Given the description of an element on the screen output the (x, y) to click on. 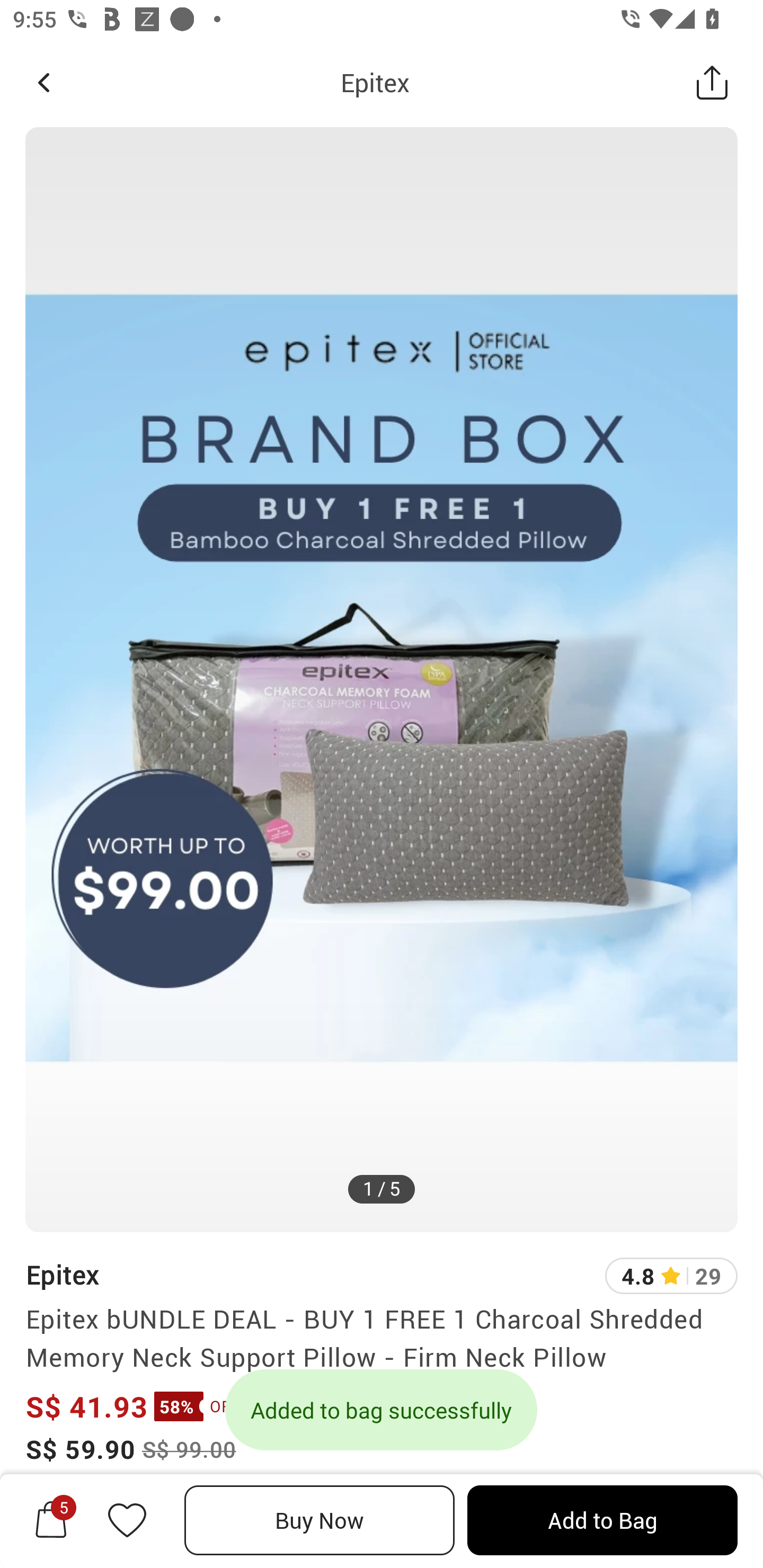
Epitex (375, 82)
Share this Product (711, 82)
Epitex (62, 1274)
4.8 29 (671, 1275)
Buy Now (319, 1519)
Add to Bag (601, 1519)
5 (50, 1520)
